Given the description of an element on the screen output the (x, y) to click on. 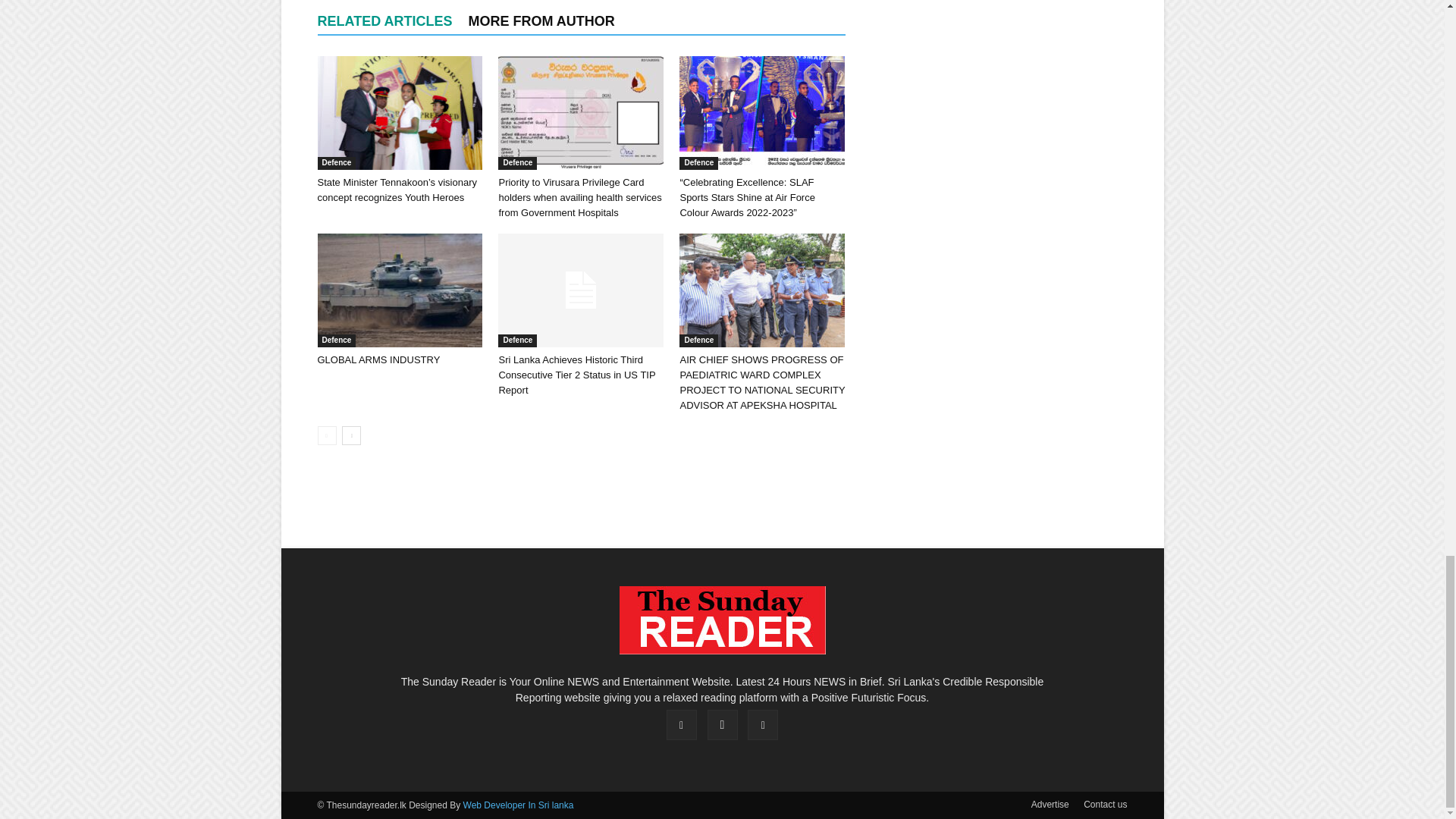
GLOBAL ARMS INDUSTRY (399, 290)
